Given the description of an element on the screen output the (x, y) to click on. 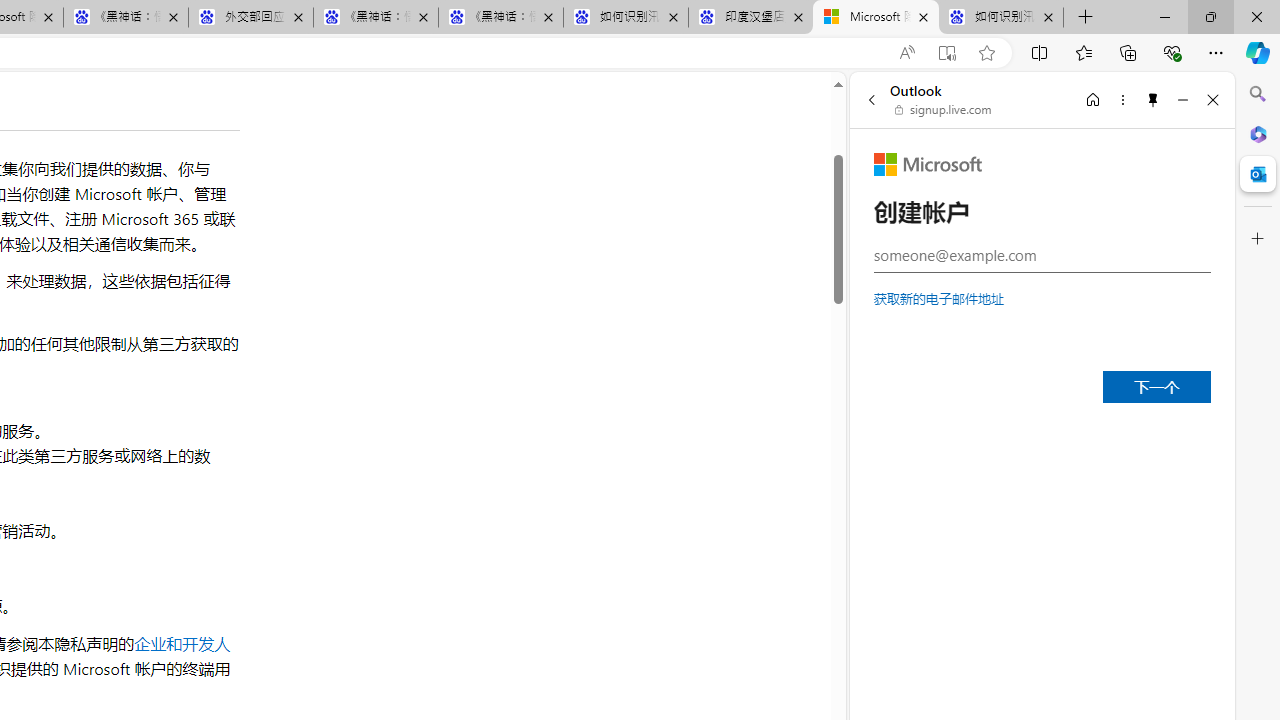
signup.live.com (943, 110)
More options (1122, 99)
